Given the description of an element on the screen output the (x, y) to click on. 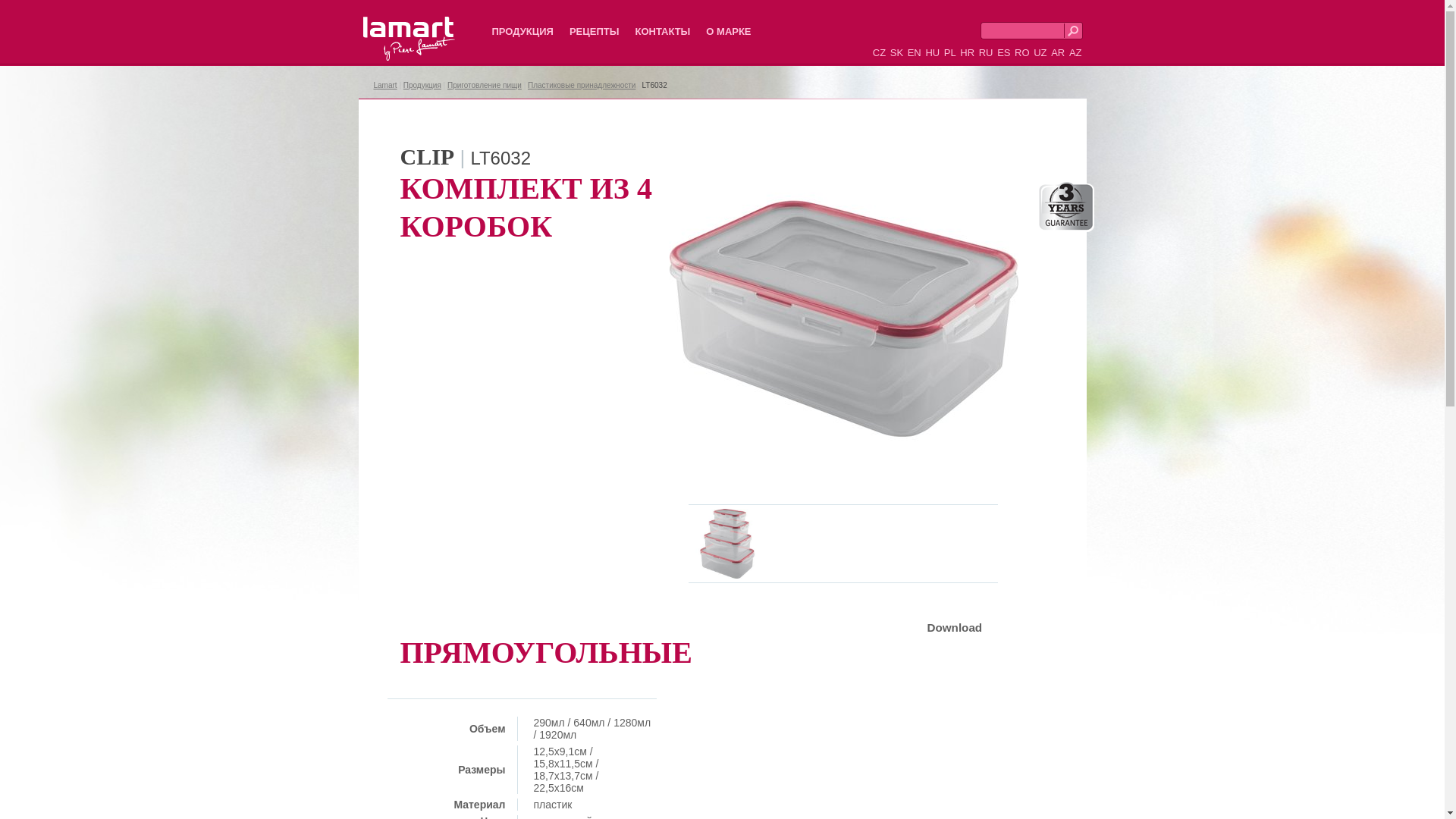
AR Element type: text (1057, 52)
Lamart Element type: text (384, 85)
AZ Element type: text (1075, 52)
RU Element type: text (986, 52)
RO Element type: text (1021, 52)
EN Element type: text (914, 52)
Lamart Element type: text (408, 38)
HU Element type: text (932, 52)
ES Element type: text (1003, 52)
UZ Element type: text (1039, 52)
CZ Element type: text (878, 52)
SK Element type: text (896, 52)
PL Element type: text (950, 52)
HR Element type: text (967, 52)
